Given the description of an element on the screen output the (x, y) to click on. 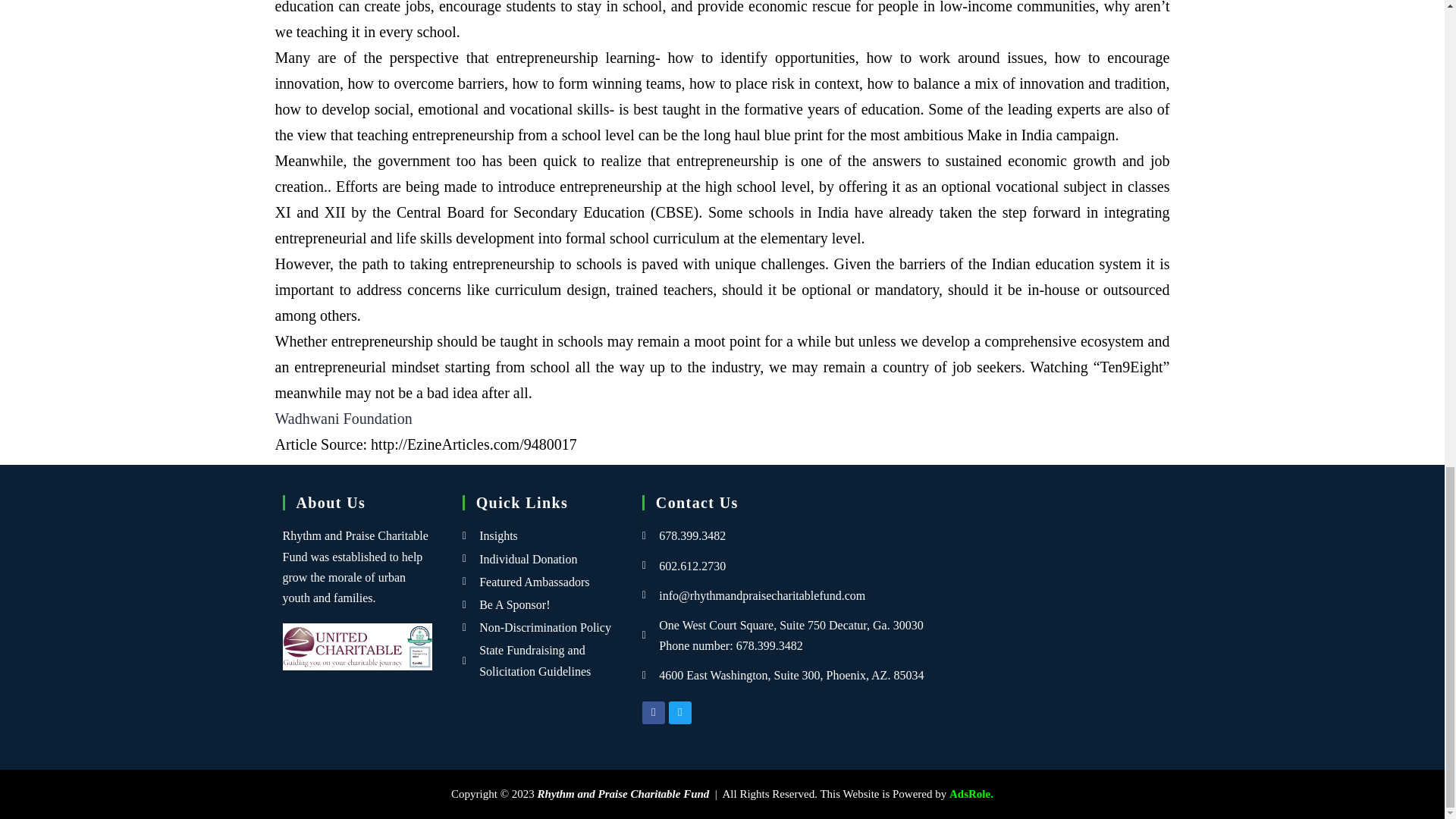
One West Court Square Suite 750 Decatur, Ga. 30030 (1058, 593)
